Given the description of an element on the screen output the (x, y) to click on. 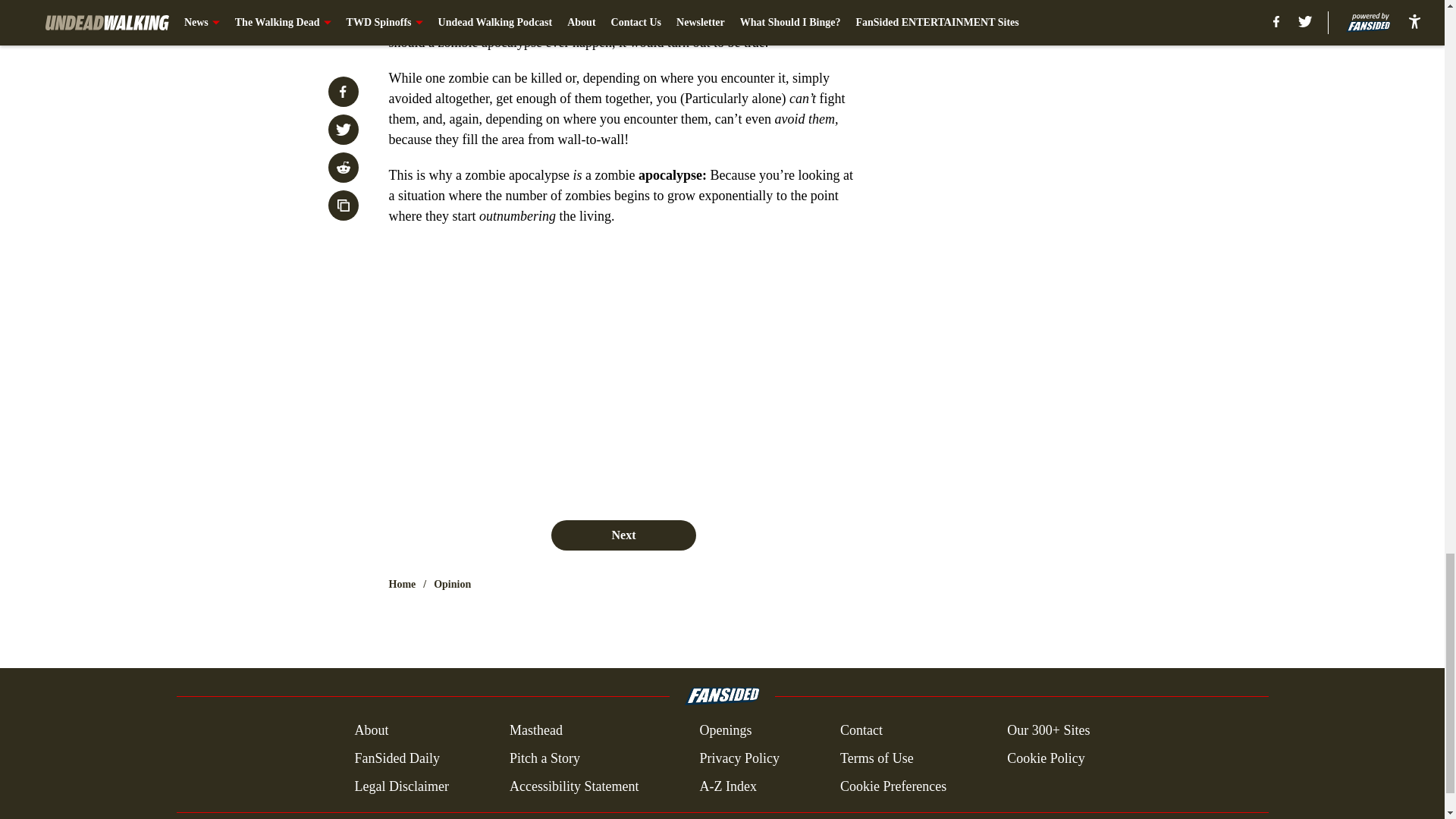
Opinion (451, 584)
Next (622, 535)
Home (401, 584)
